Given the description of an element on the screen output the (x, y) to click on. 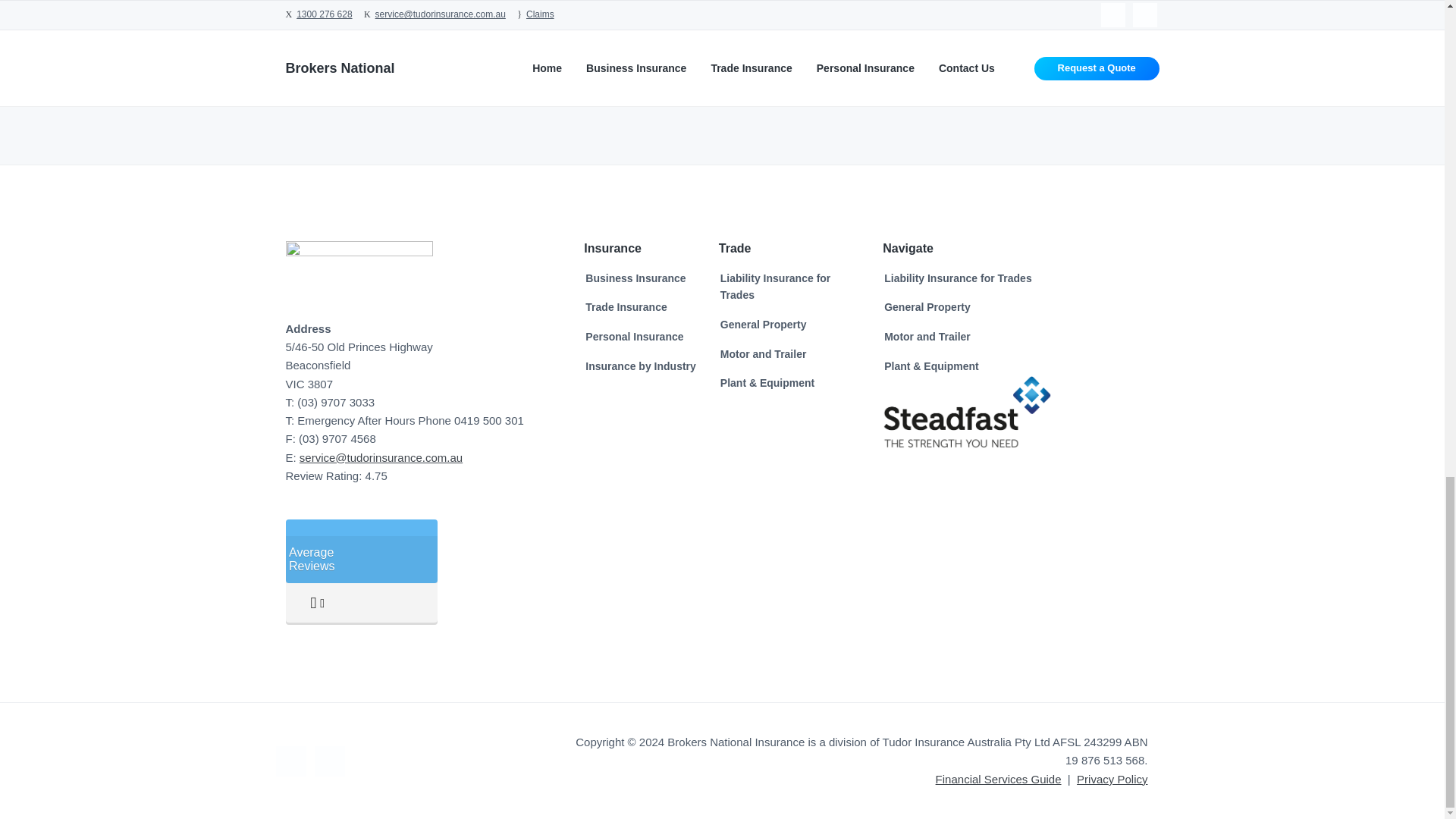
Reviews Badge Widget (360, 572)
